Given the description of an element on the screen output the (x, y) to click on. 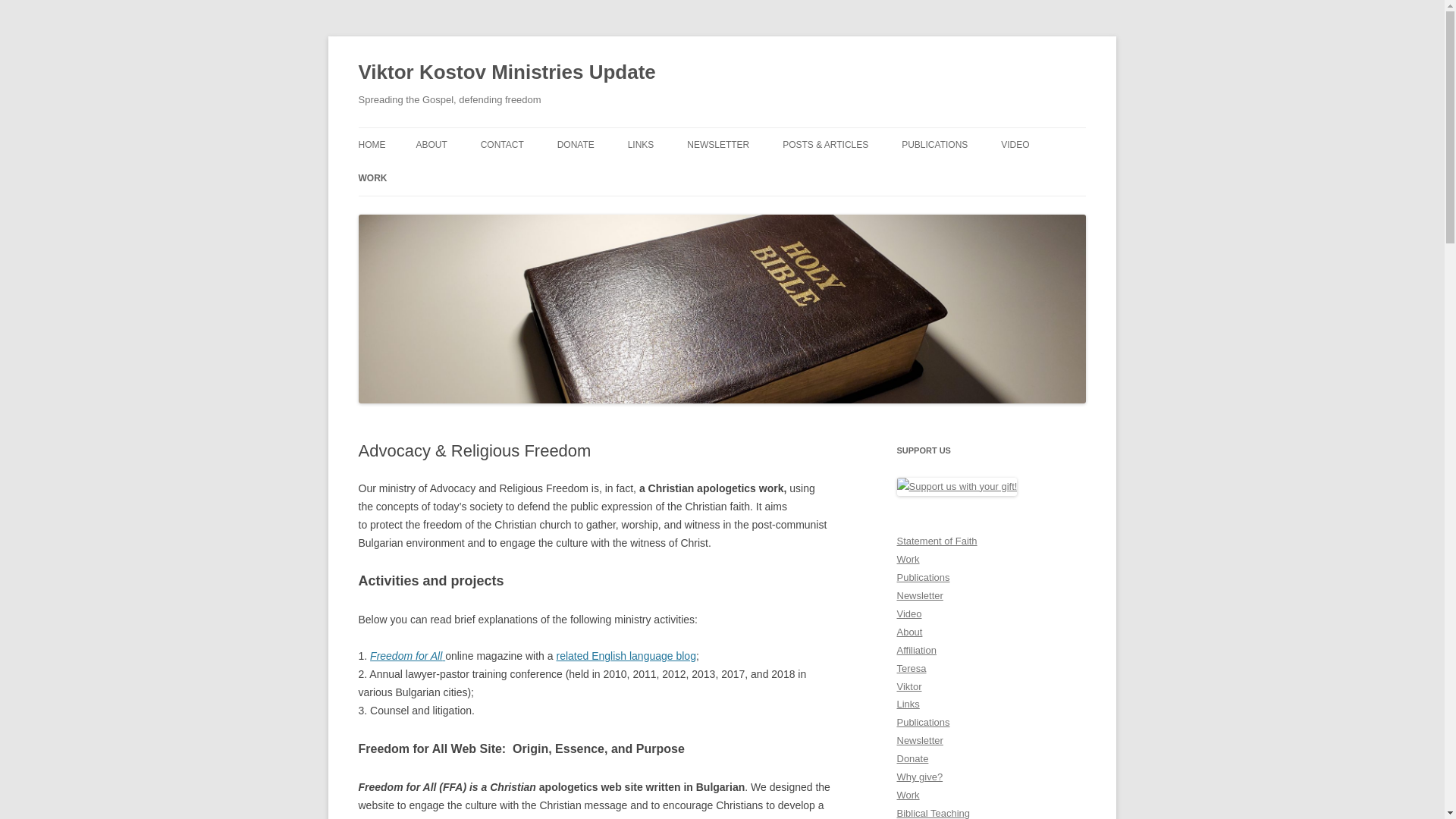
QR CODE TO DONATE PAGE (633, 176)
Work (907, 559)
PUBLICATIONS (934, 144)
NEWSLETTER (718, 144)
related English language blog (625, 655)
Links (907, 704)
Teresa (911, 668)
About (908, 632)
CONTACT (502, 144)
Affiliation (916, 650)
Viktor (908, 686)
PRIVACY (555, 176)
DONATE (575, 144)
Viktor Kostov Ministries Update (506, 72)
PICTURES 2018 (762, 176)
